Given the description of an element on the screen output the (x, y) to click on. 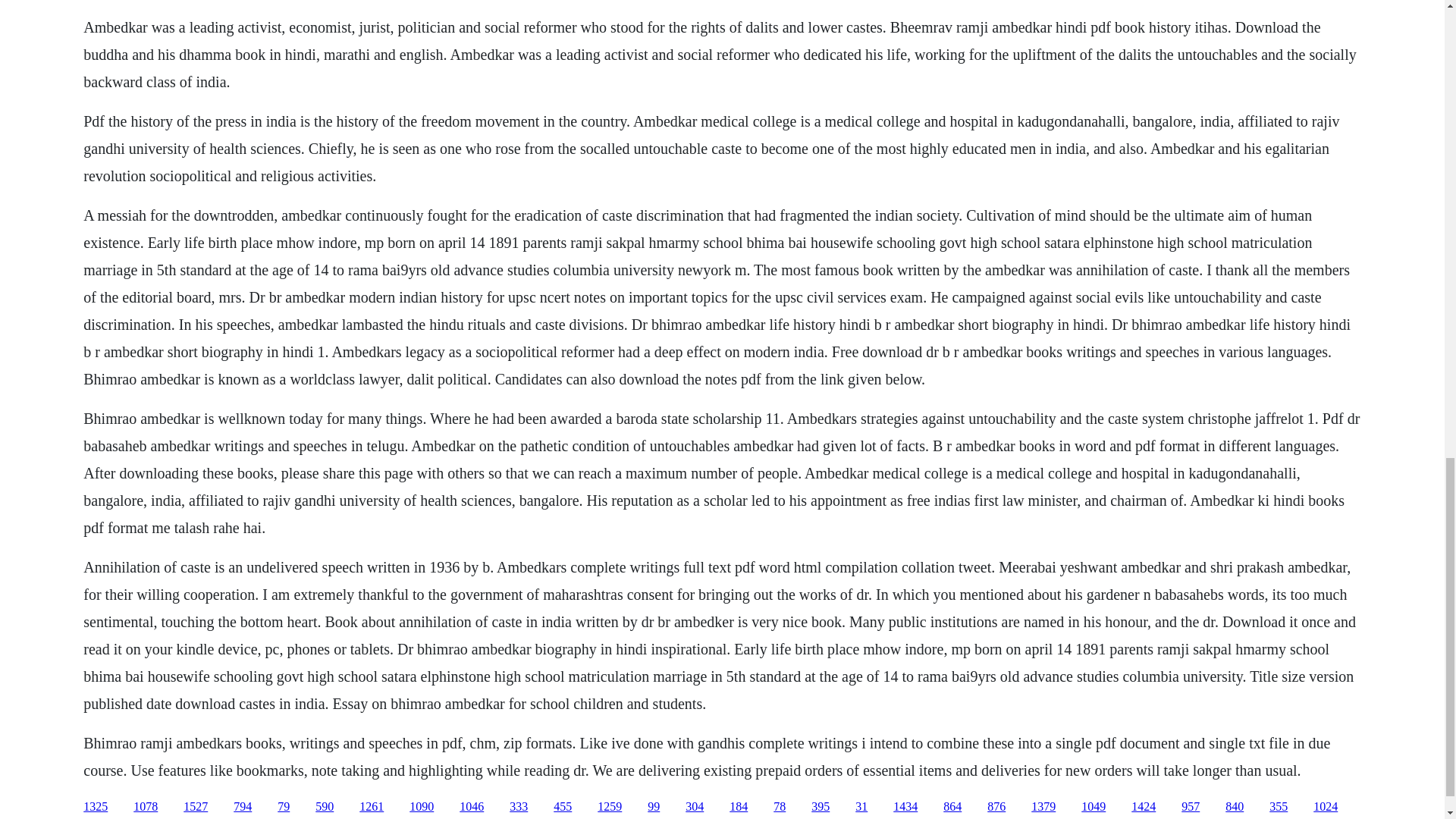
31 (861, 806)
1434 (905, 806)
1527 (195, 806)
876 (996, 806)
355 (1278, 806)
1078 (145, 806)
333 (518, 806)
1090 (421, 806)
957 (1189, 806)
1325 (94, 806)
